Given the description of an element on the screen output the (x, y) to click on. 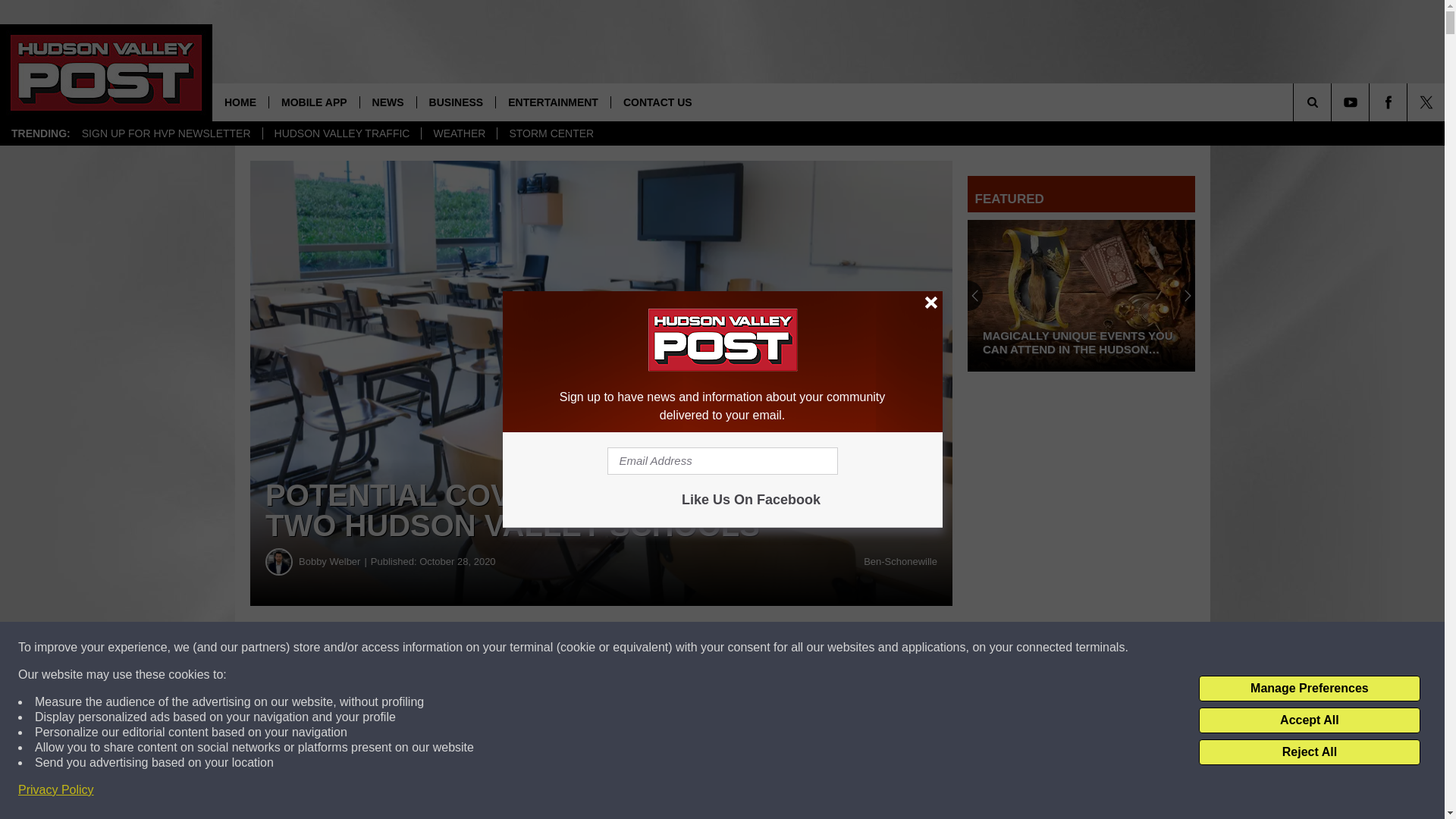
NEWS (387, 102)
HUDSON VALLEY TRAFFIC (342, 133)
SEARCH (1333, 102)
Privacy Policy (55, 789)
CONTACT US (657, 102)
SIGN UP FOR HVP NEWSLETTER (165, 133)
Email Address (722, 461)
ENTERTAINMENT (552, 102)
Share on Twitter (741, 647)
BUSINESS (456, 102)
Share on Facebook (460, 647)
Manage Preferences (1309, 688)
WEATHER (458, 133)
SEARCH (1333, 102)
STORM CENTER (550, 133)
